Given the description of an element on the screen output the (x, y) to click on. 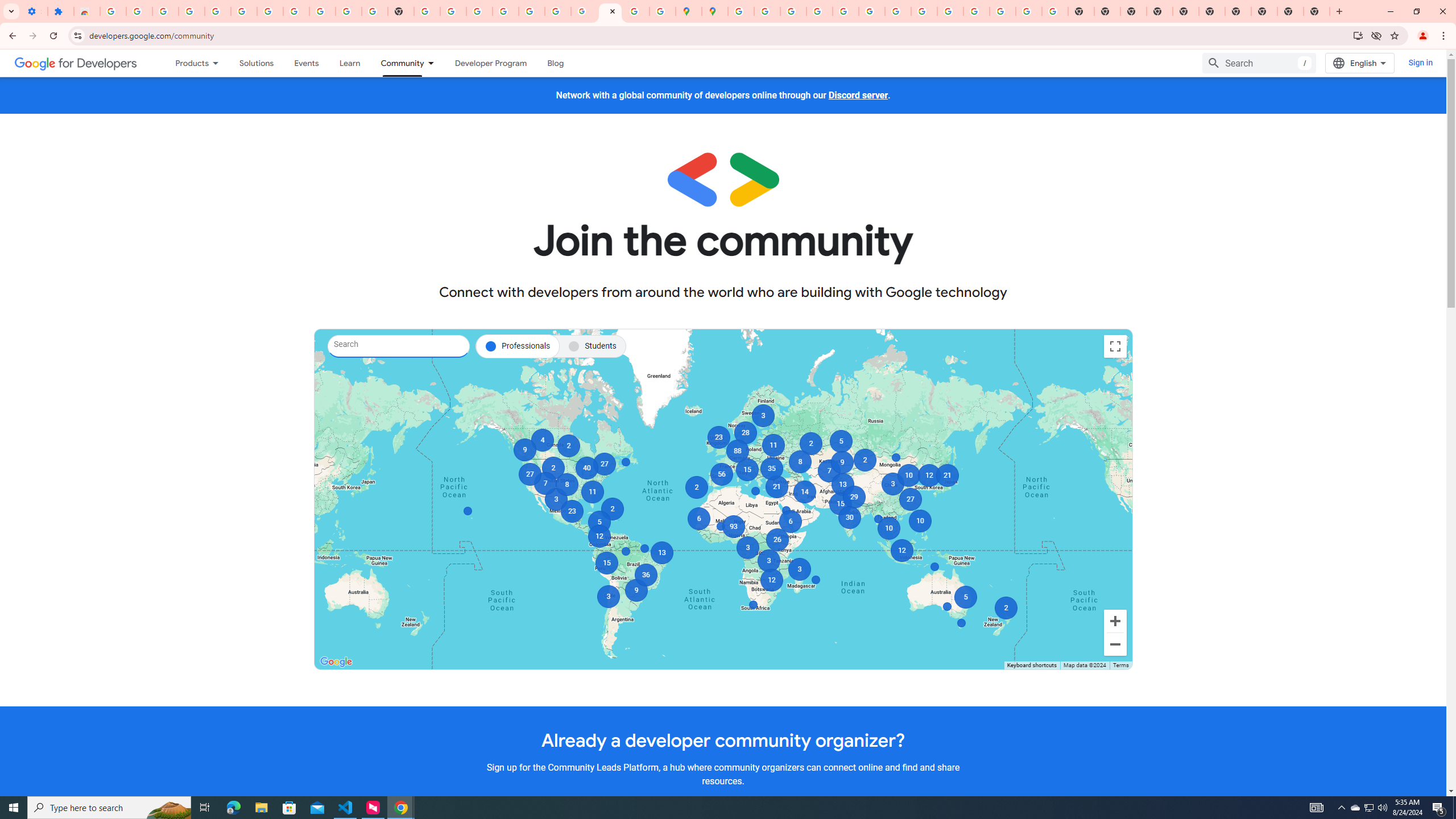
26 (777, 539)
Already a developer community organizer? (722, 739)
Reviews: Helix Fruit Jump Arcade Game (86, 11)
35 (771, 468)
Extensions (60, 11)
15 (746, 469)
Learn how to find your photos - Google Photos Help (217, 11)
Privacy Help Center - Policies Help (818, 11)
93 (733, 526)
Zoom in (1114, 620)
